Given the description of an element on the screen output the (x, y) to click on. 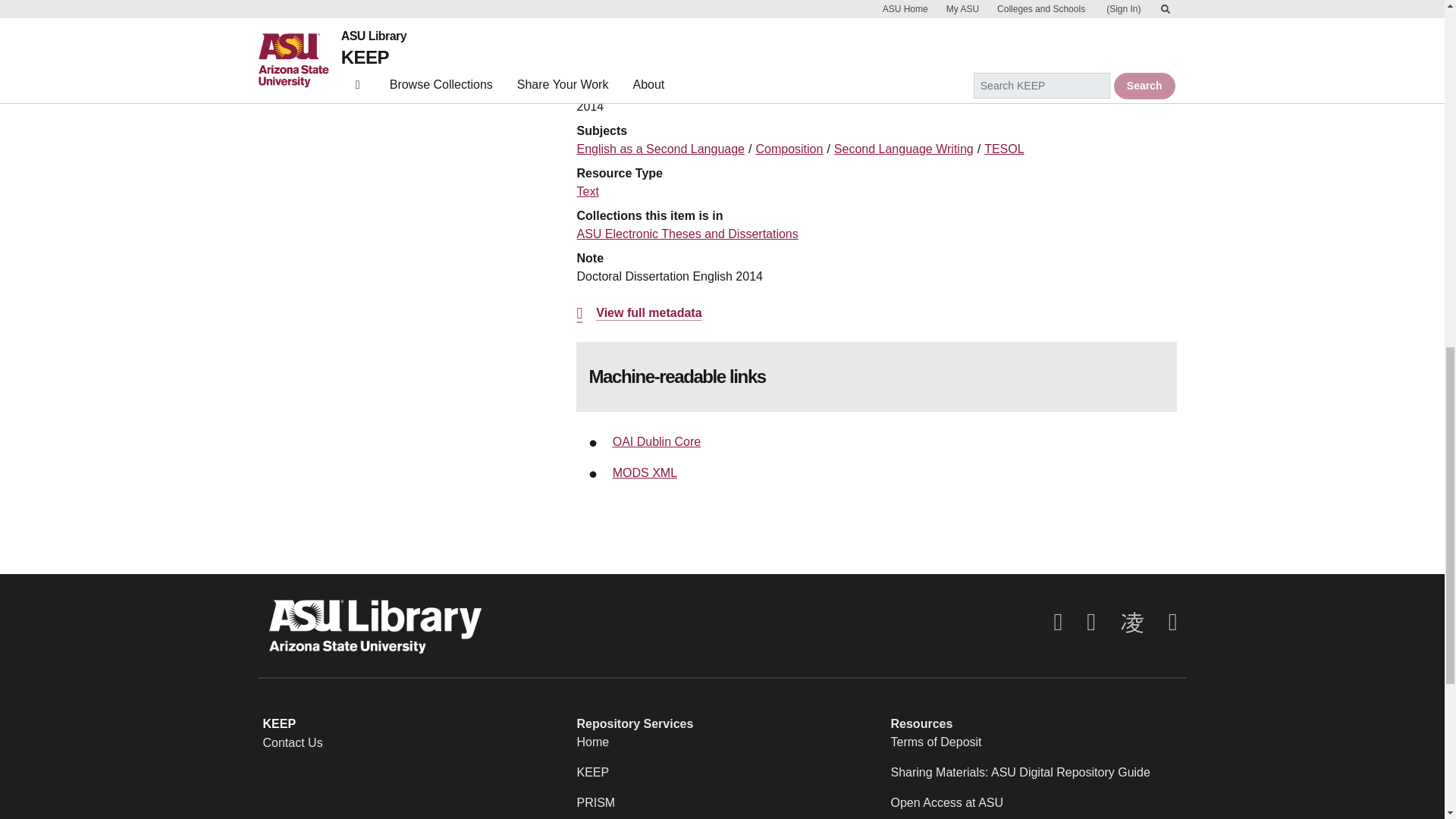
Composition (788, 148)
James, Mark A (616, 45)
English as a Second Language (660, 148)
Matsuda, Paul Kei (822, 27)
Arizona State University (641, 63)
Hammill, Matthew Joseph (645, 27)
Second Language Writing (904, 148)
Rose, Shirley (820, 45)
